Given the description of an element on the screen output the (x, y) to click on. 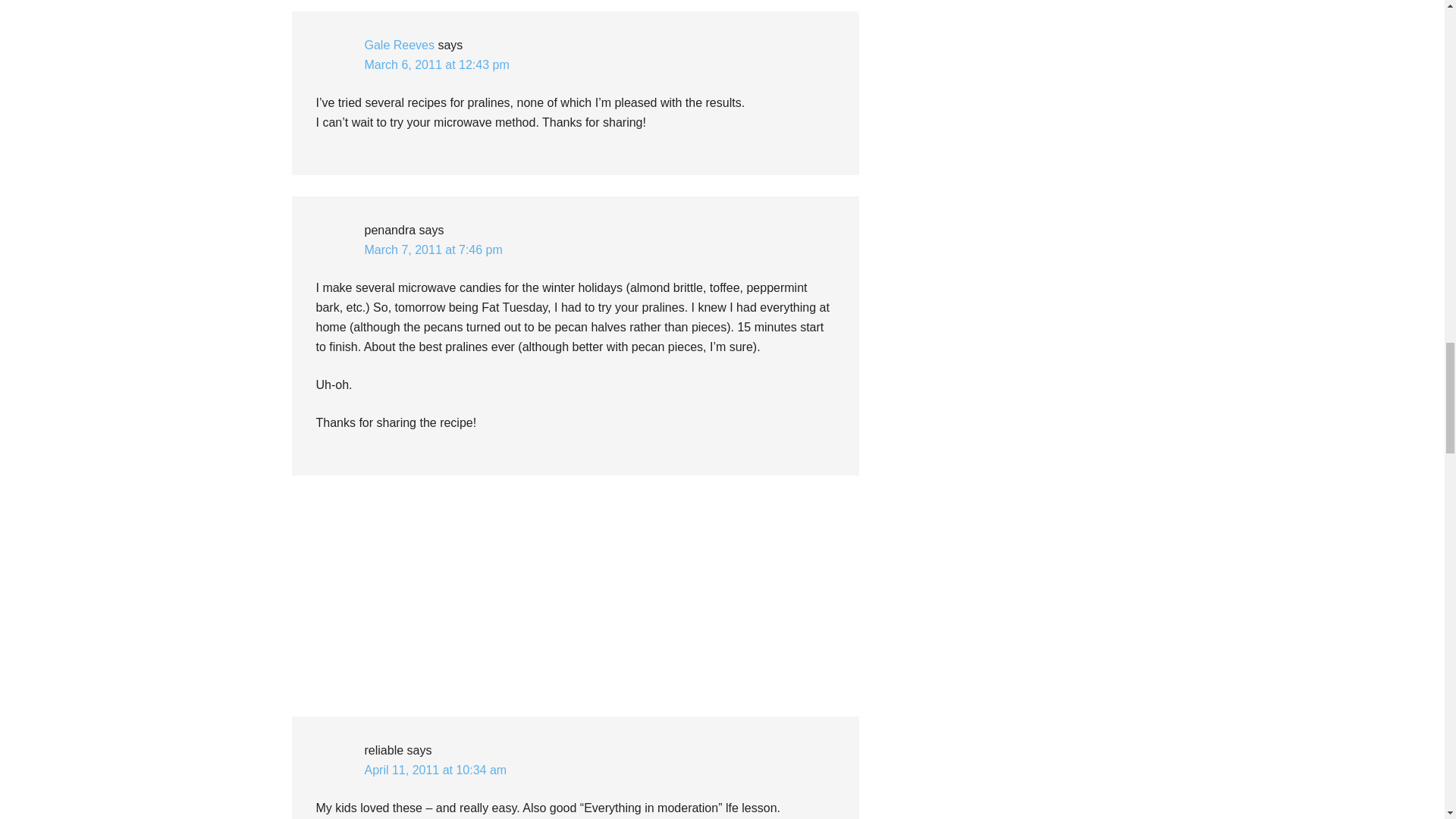
March 6, 2011 at 12:43 pm (436, 64)
March 7, 2011 at 7:46 pm (433, 249)
Gale Reeves (398, 44)
April 11, 2011 at 10:34 am (435, 769)
